Given the description of an element on the screen output the (x, y) to click on. 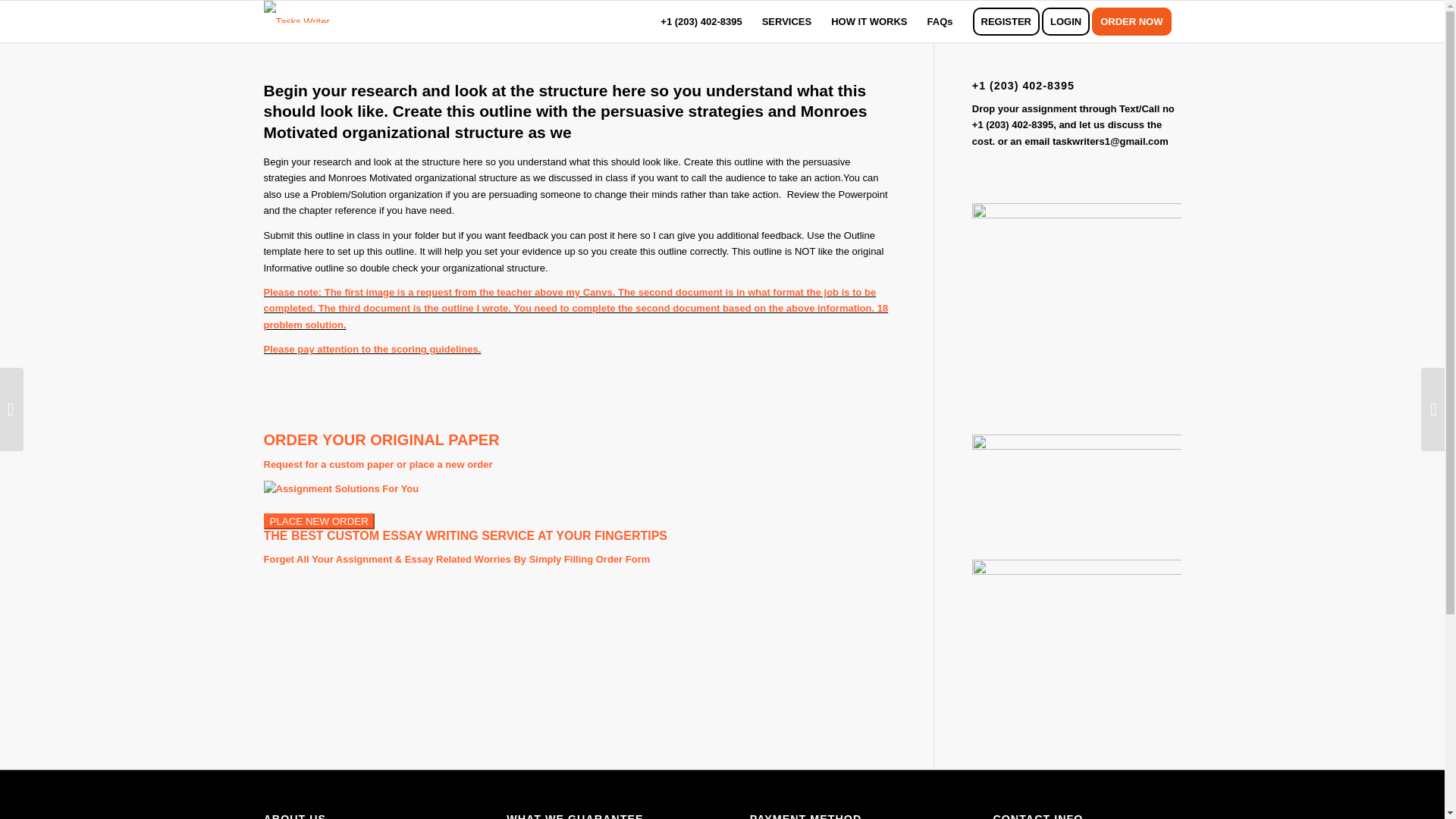
PLACE NEW ORDER (318, 521)
FAQs (939, 21)
SERVICES (787, 21)
ORDER NOW (1136, 21)
LOGIN (1070, 21)
logo1 (296, 11)
ORDER YOUR ORIGINAL PAPER (381, 439)
PLACE NEW ORDER (318, 521)
HOW IT WORKS (869, 21)
REGISTER (1005, 21)
